Given the description of an element on the screen output the (x, y) to click on. 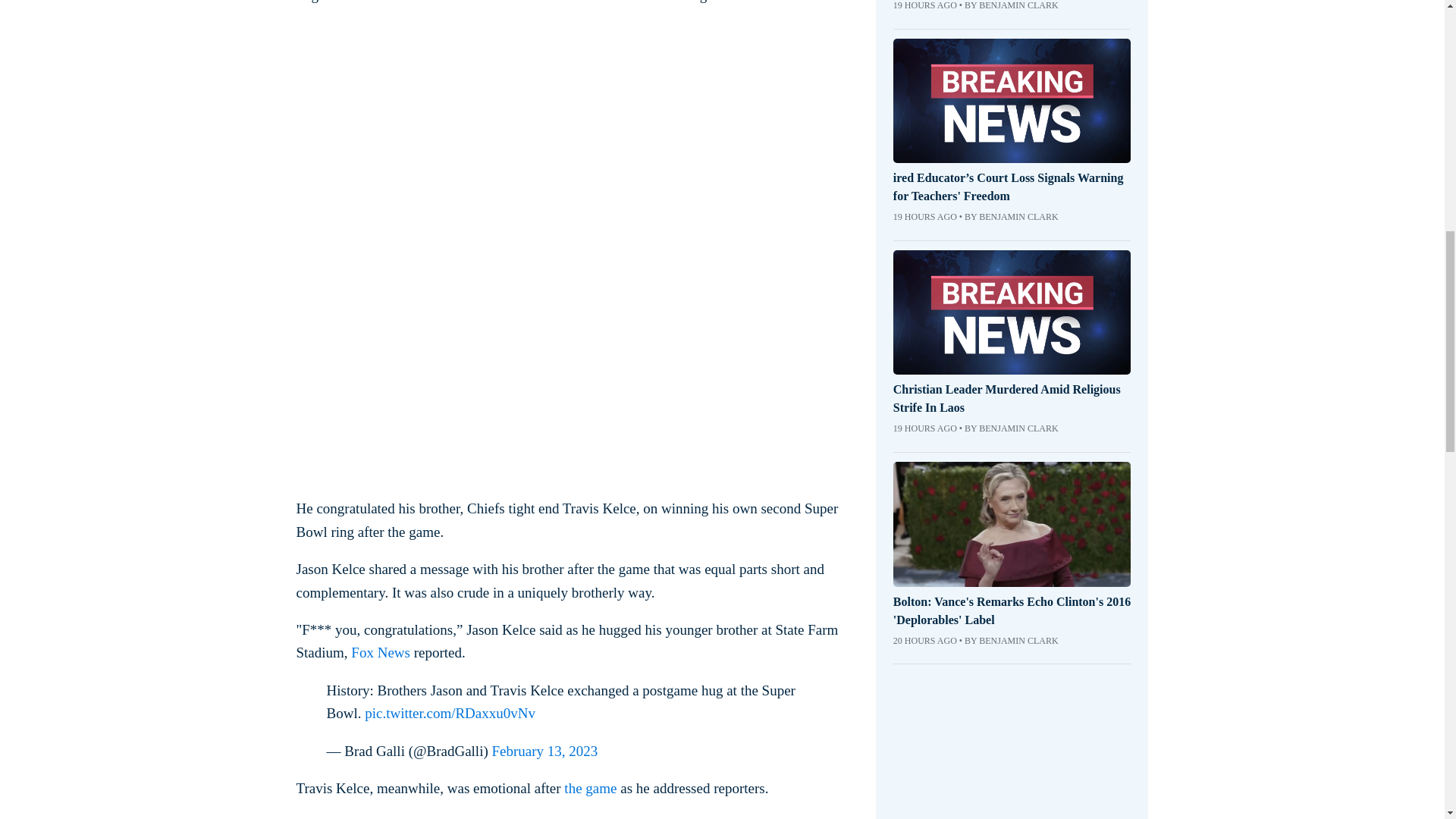
Fox News (380, 652)
February 13, 2023 (544, 750)
the game (589, 788)
